Given the description of an element on the screen output the (x, y) to click on. 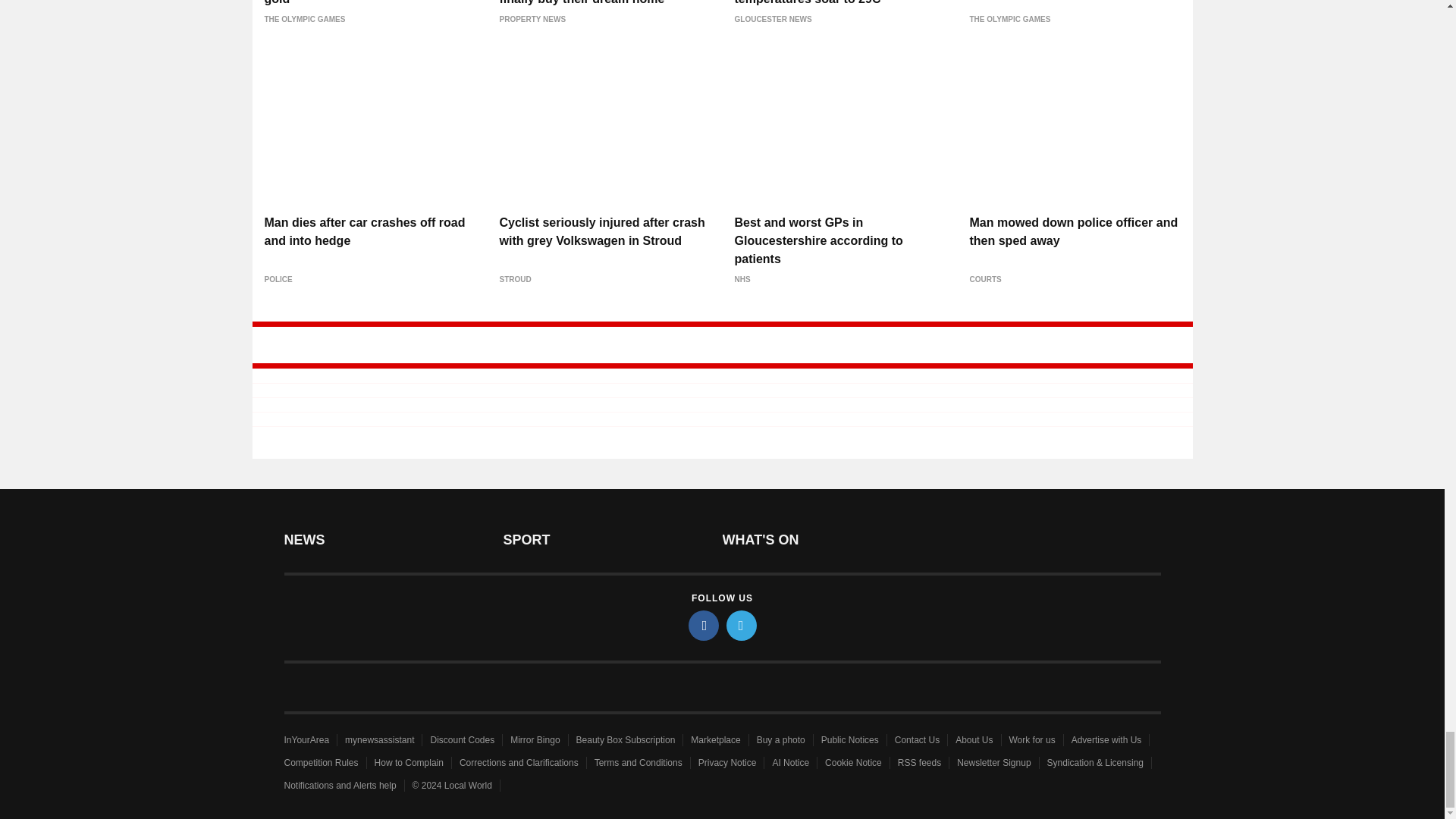
twitter (741, 625)
facebook (703, 625)
